Given the description of an element on the screen output the (x, y) to click on. 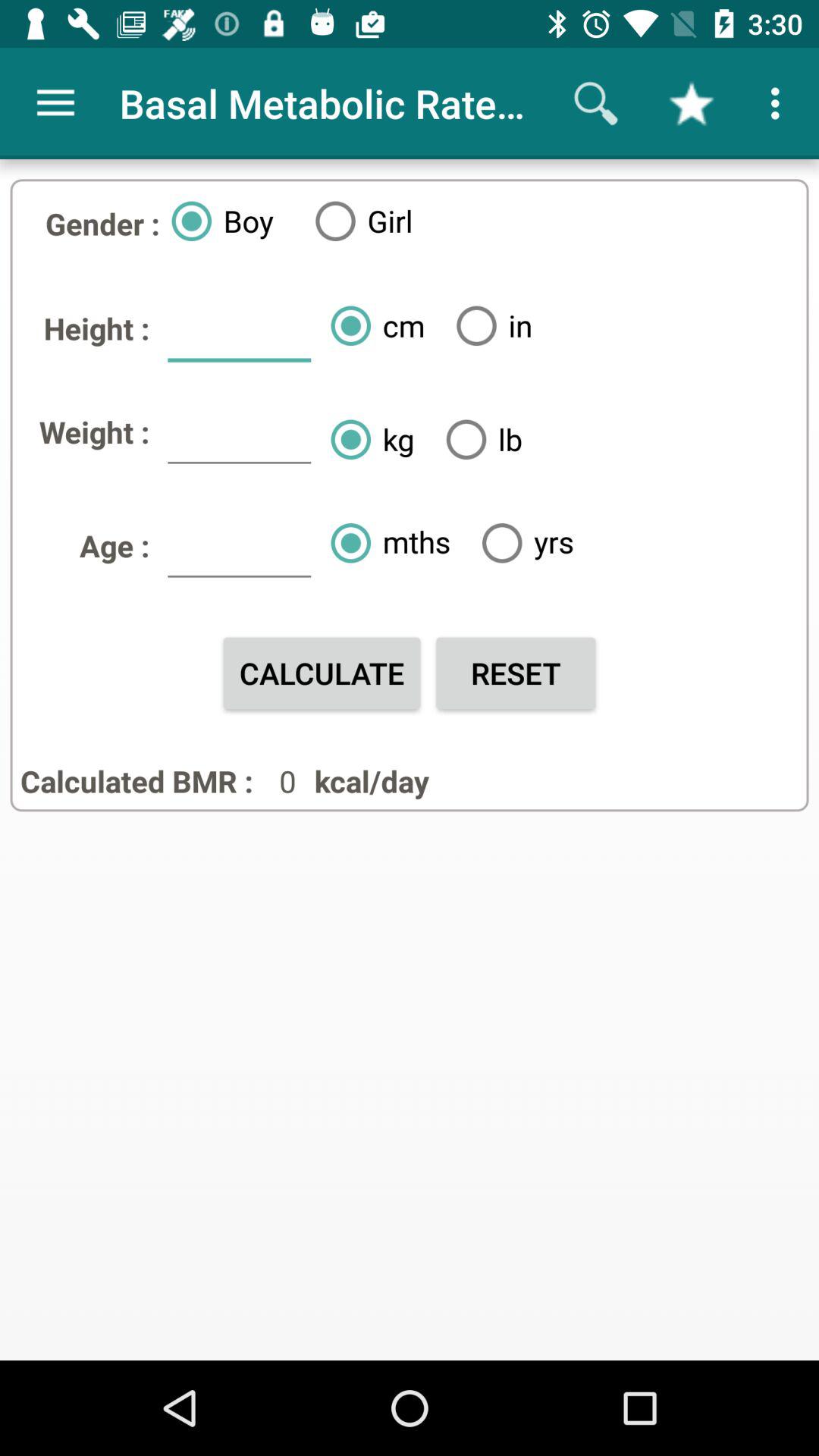
swipe until the in (488, 325)
